Given the description of an element on the screen output the (x, y) to click on. 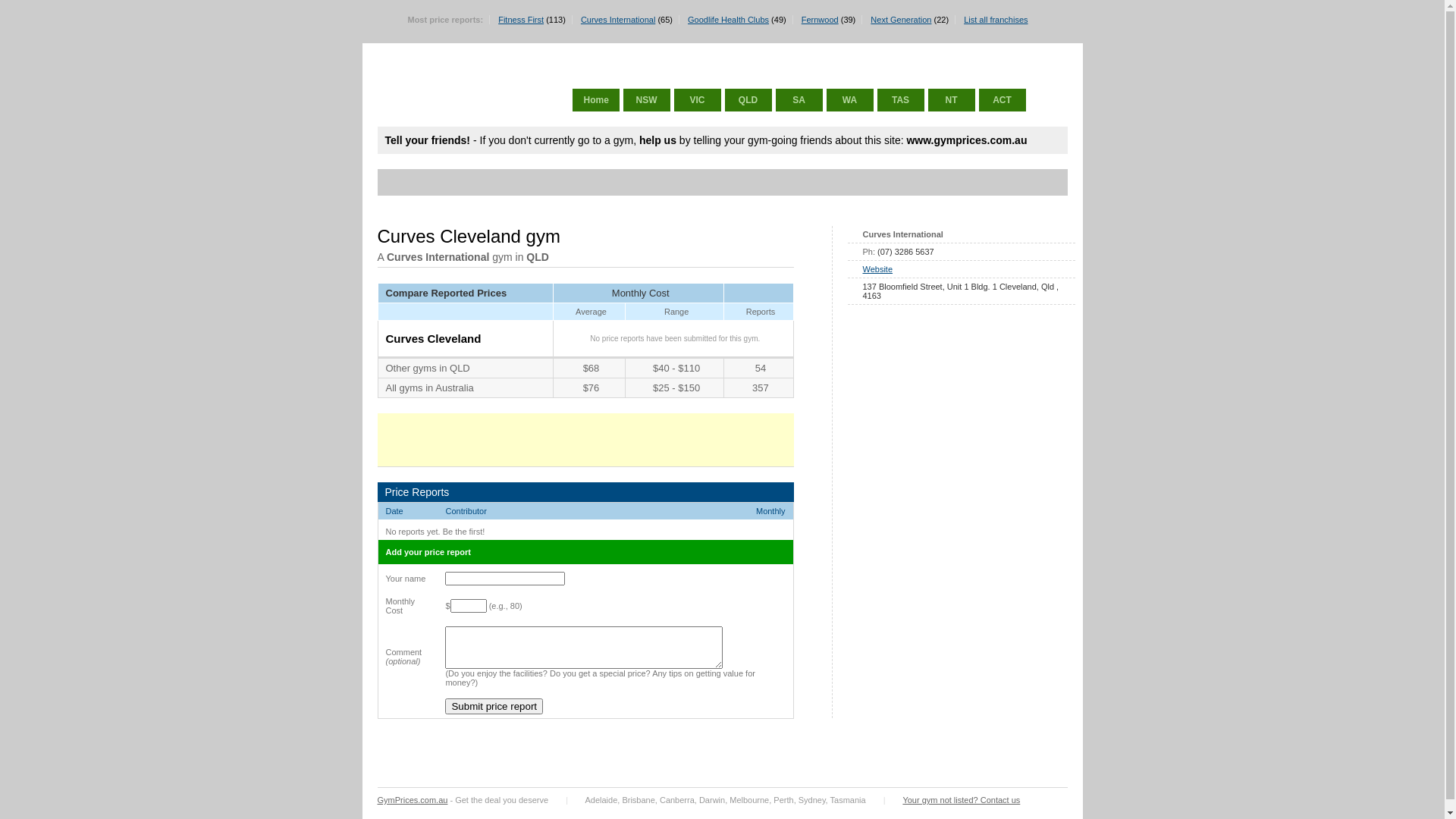
Goodlife Health Clubs Element type: text (727, 19)
Home Element type: text (594, 99)
VIC Element type: text (696, 99)
ACT Element type: text (1001, 99)
Fernwood Element type: text (819, 19)
Website Element type: text (877, 268)
Curves International Element type: text (617, 19)
Fitness First Element type: text (520, 19)
Submit price report Element type: text (493, 706)
SA Element type: text (798, 99)
List all franchises Element type: text (995, 19)
QLD Element type: text (747, 99)
Advertisement Element type: hover (661, 182)
Advertisement Element type: hover (562, 439)
Other gyms in QLD Element type: text (427, 367)
All gyms in Australia Element type: text (429, 387)
Next Generation Element type: text (900, 19)
Advertisement Element type: hover (961, 422)
Advertisement Element type: hover (961, 623)
TAS Element type: text (899, 99)
WA Element type: text (849, 99)
GymPrices.com.au Element type: text (412, 799)
Your gym not listed? Contact us Element type: text (960, 799)
NT Element type: text (951, 99)
NSW Element type: text (646, 99)
